Given the description of an element on the screen output the (x, y) to click on. 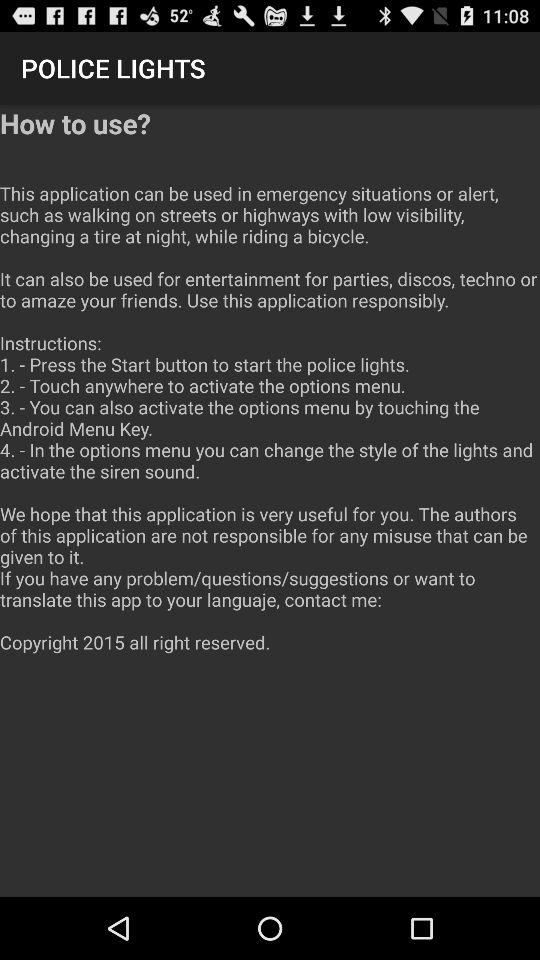
click the how to use (270, 390)
